Given the description of an element on the screen output the (x, y) to click on. 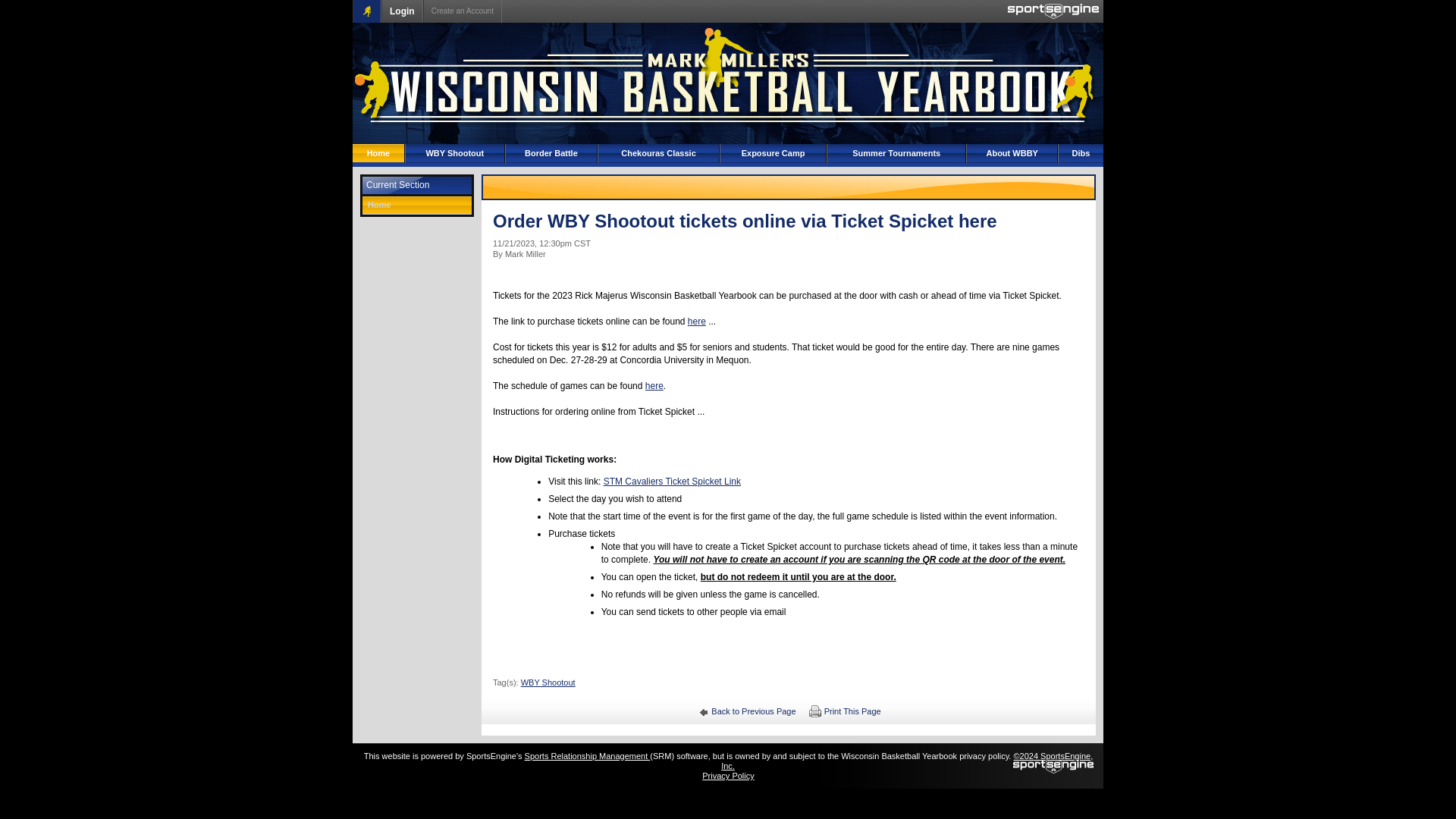
click to go to 'Home' (378, 153)
Back to Previous Page (744, 711)
Sports Relationship Management (587, 755)
About WBBY (1012, 153)
Home (378, 153)
click to go to 'About WBBY' (1012, 153)
WBY Shootout (454, 153)
WBY Shootout (548, 682)
Login (402, 11)
Exposure Camp (773, 153)
